Given the description of an element on the screen output the (x, y) to click on. 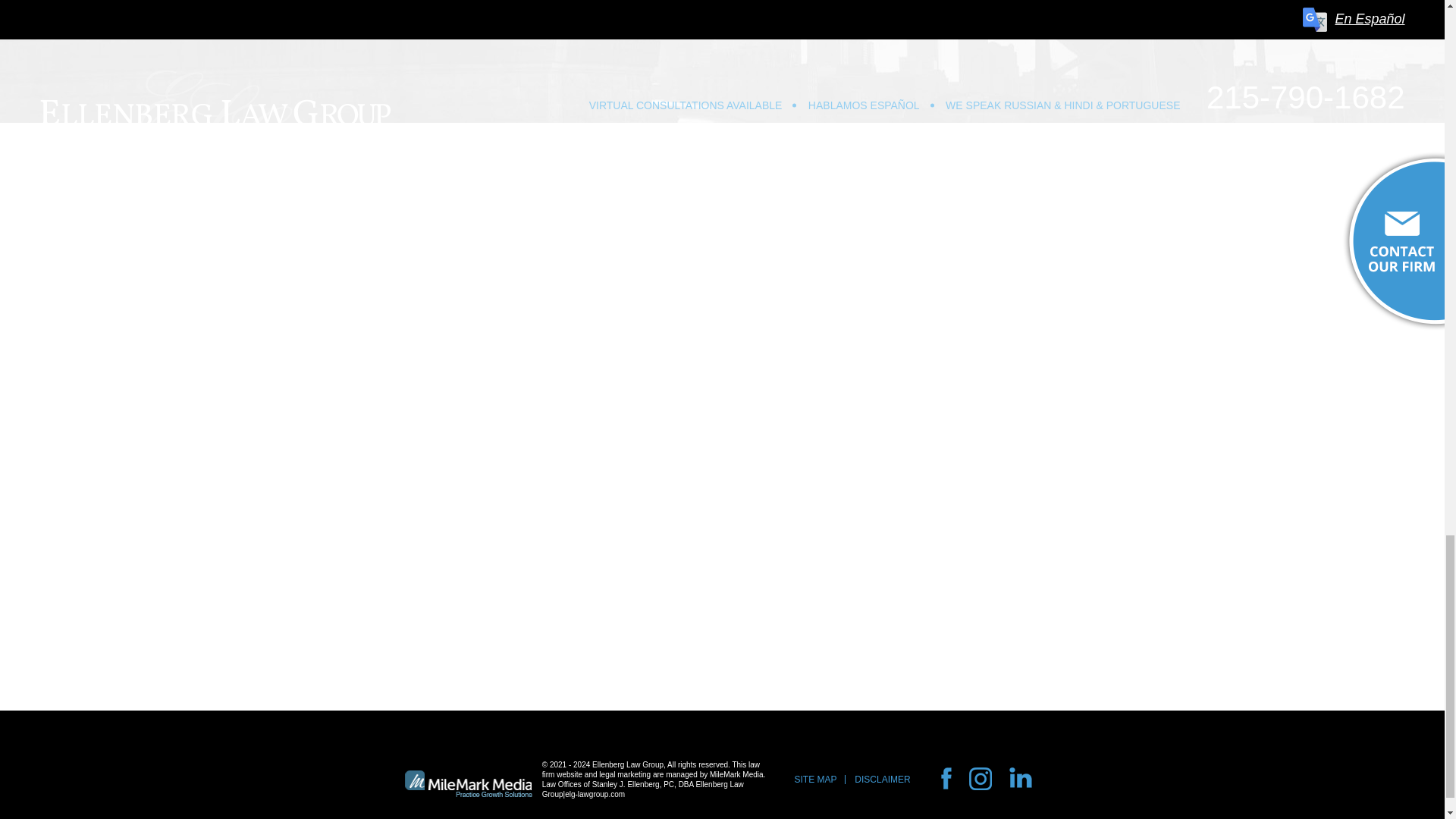
LinkedIn (1000, 791)
Instagram (986, 791)
Facebook (971, 791)
MileMark Media (468, 783)
